Given the description of an element on the screen output the (x, y) to click on. 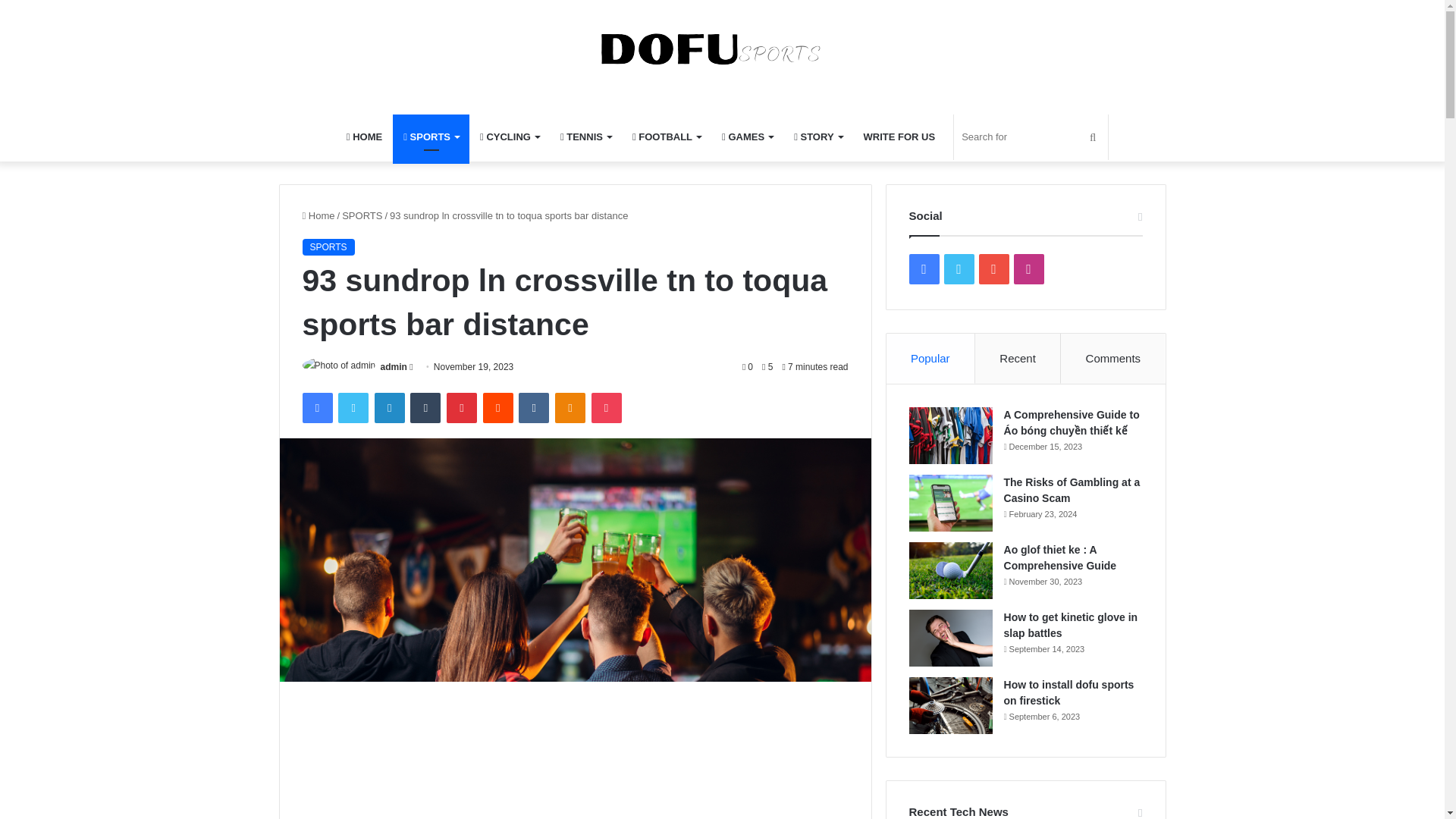
Reddit (498, 408)
Odnoklassniki (569, 408)
Odnoklassniki (569, 408)
HOME (364, 136)
STORY (817, 136)
Reddit (498, 408)
Home (317, 215)
VKontakte (533, 408)
Tumblr (425, 408)
Pinterest (461, 408)
